Given the description of an element on the screen output the (x, y) to click on. 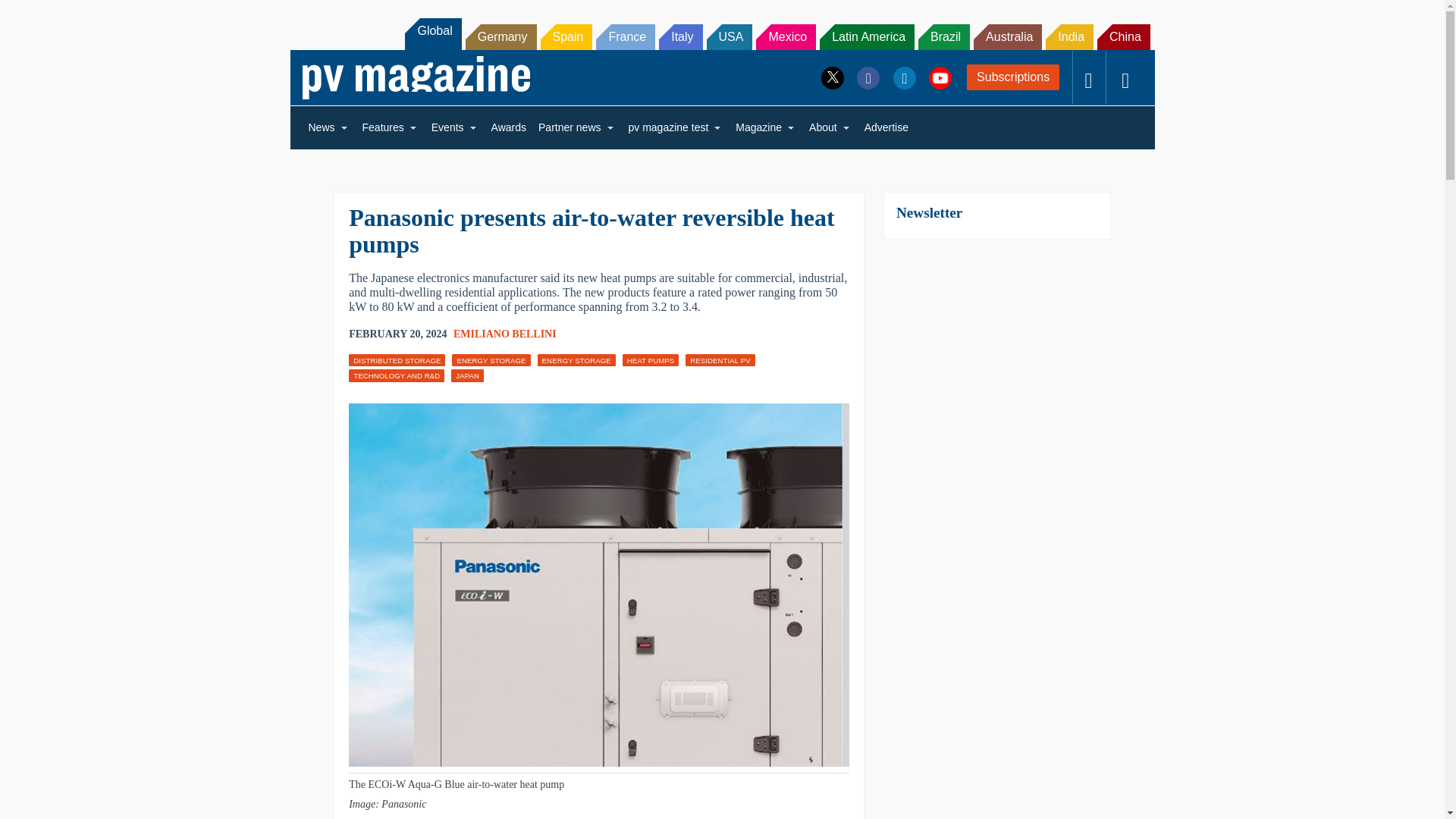
pv magazine - Photovoltaics Markets and Technology (415, 77)
Search (32, 15)
India (1069, 36)
Global (432, 33)
Australia (1008, 36)
China (1123, 36)
Spain (566, 36)
pv magazine - Photovoltaics Markets and Technology (415, 77)
Latin America (866, 36)
USA (729, 36)
